Given the description of an element on the screen output the (x, y) to click on. 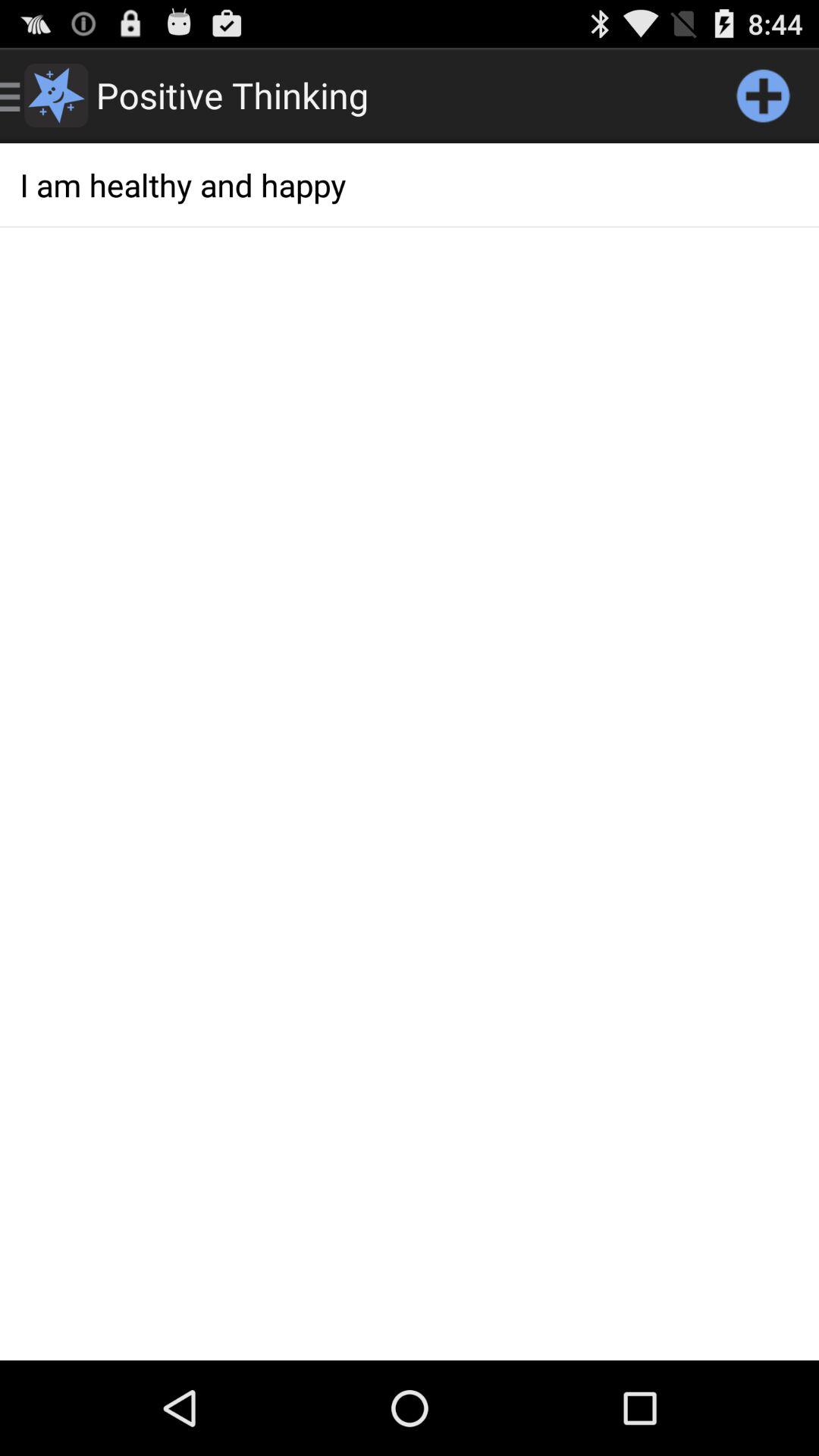
swipe to i am healthy (409, 184)
